Given the description of an element on the screen output the (x, y) to click on. 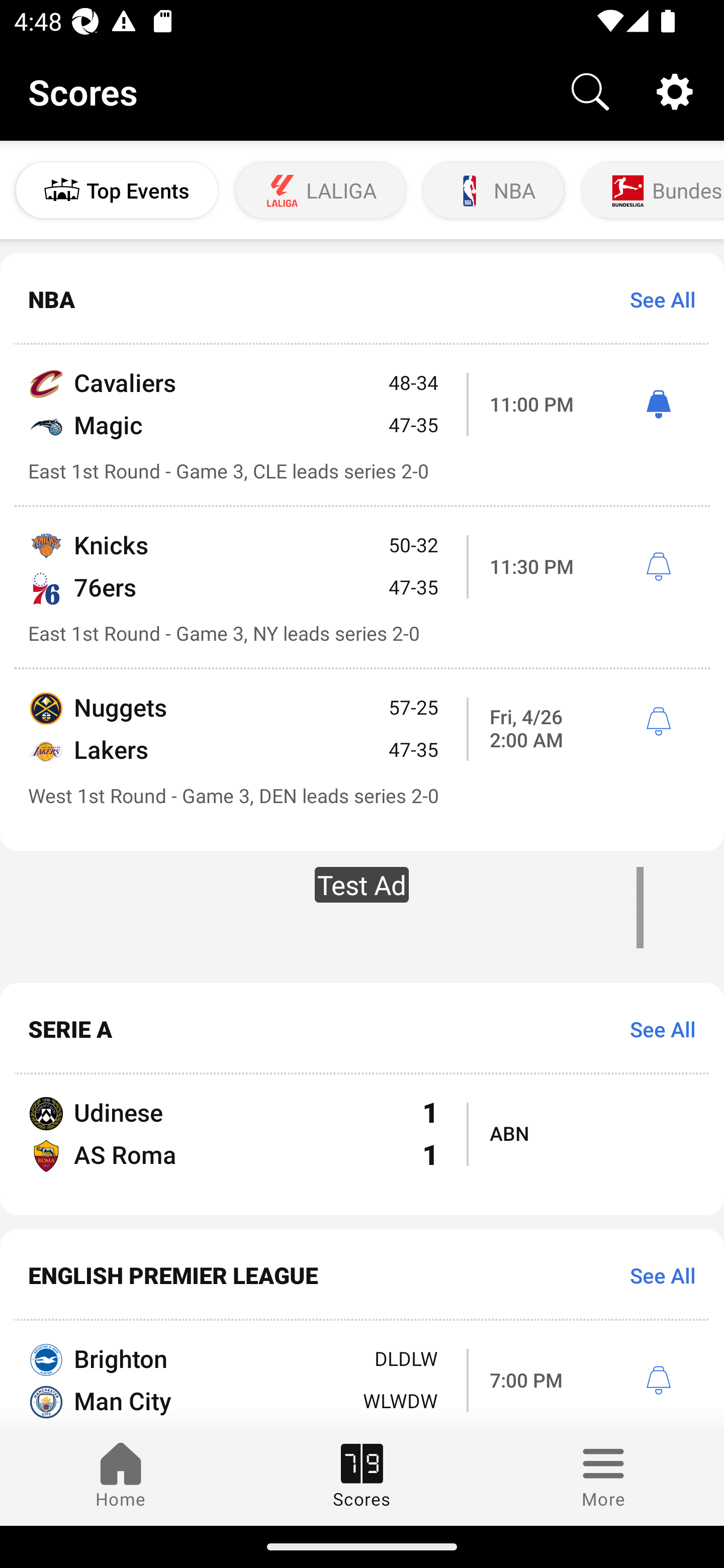
Search (590, 90)
Settings (674, 90)
 Top Events (116, 190)
LALIGA (320, 190)
NBA (492, 190)
Bundesliga (651, 190)
NBA See All (362, 299)
See All (655, 299)
ì (658, 404)
í (658, 567)
í (658, 721)
SERIE A See All (362, 1028)
See All (655, 1028)
Udinese 1 AS Roma 1 ABN (362, 1144)
ENGLISH PREMIER LEAGUE See All (362, 1274)
See All (655, 1274)
Brighton DLDLW Man City WLWDW 7:00 PM í (362, 1373)
í (658, 1381)
Home (120, 1475)
More (603, 1475)
